Given the description of an element on the screen output the (x, y) to click on. 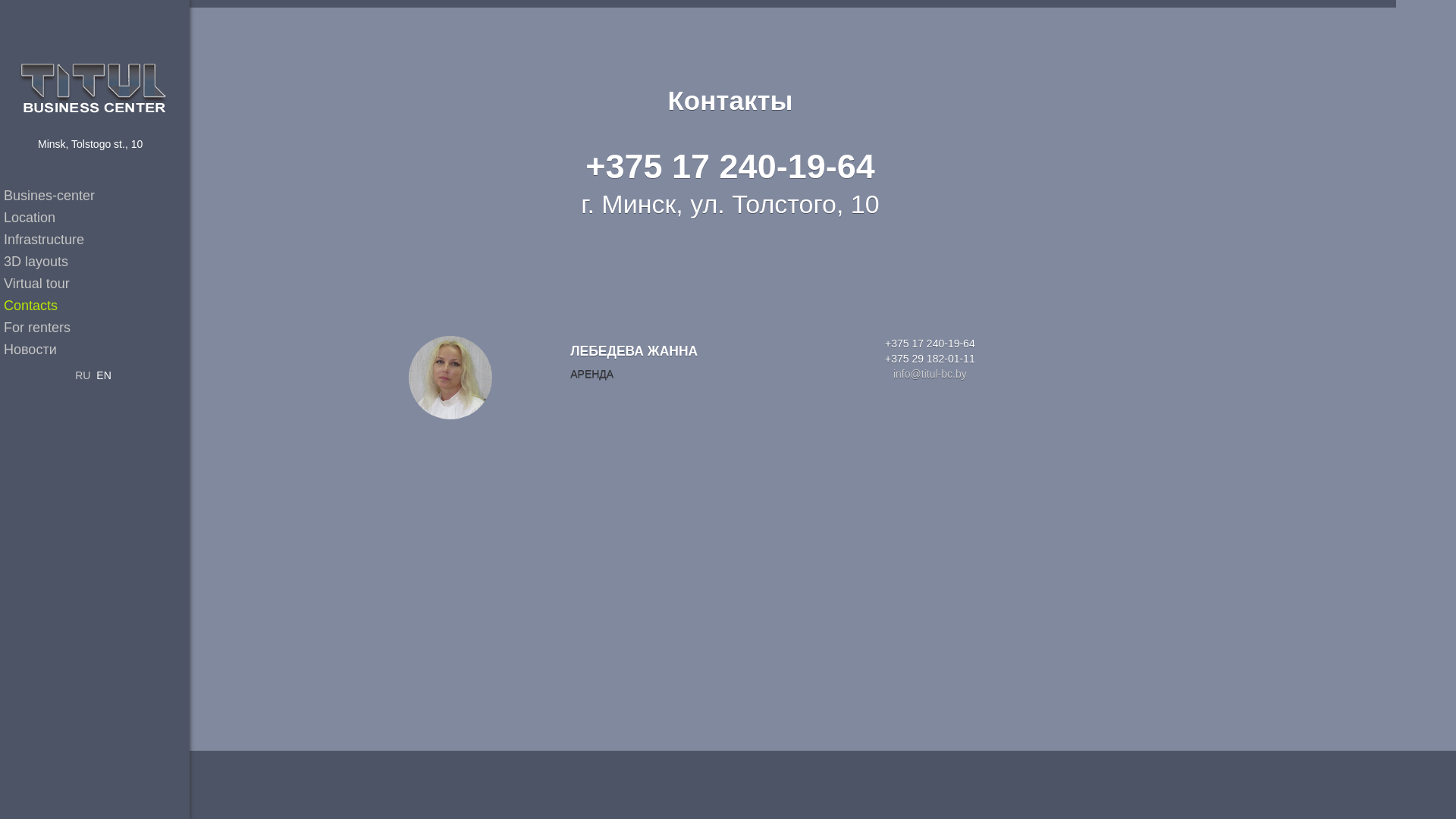
Contacts Element type: text (96, 305)
For renters Element type: text (96, 327)
info@titul-bc.by Element type: text (929, 373)
Busines-center Element type: text (96, 196)
Virtual tour Element type: text (96, 283)
RU Element type: text (84, 375)
Location Element type: text (96, 218)
3D layouts Element type: text (96, 262)
Infrastructure Element type: text (96, 240)
EN Element type: text (103, 375)
